Given the description of an element on the screen output the (x, y) to click on. 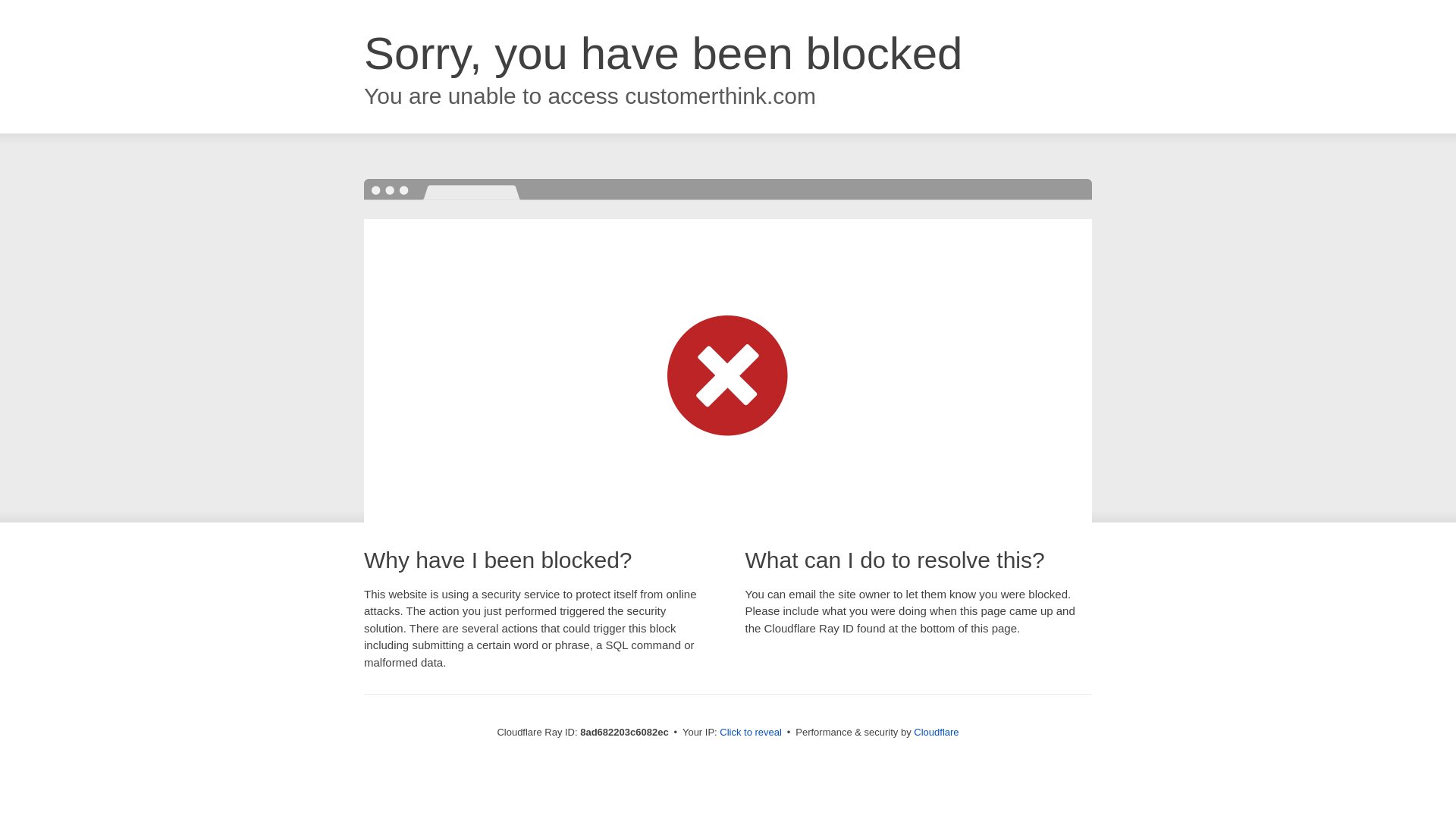
Click to reveal (750, 732)
Cloudflare (936, 731)
